Given the description of an element on the screen output the (x, y) to click on. 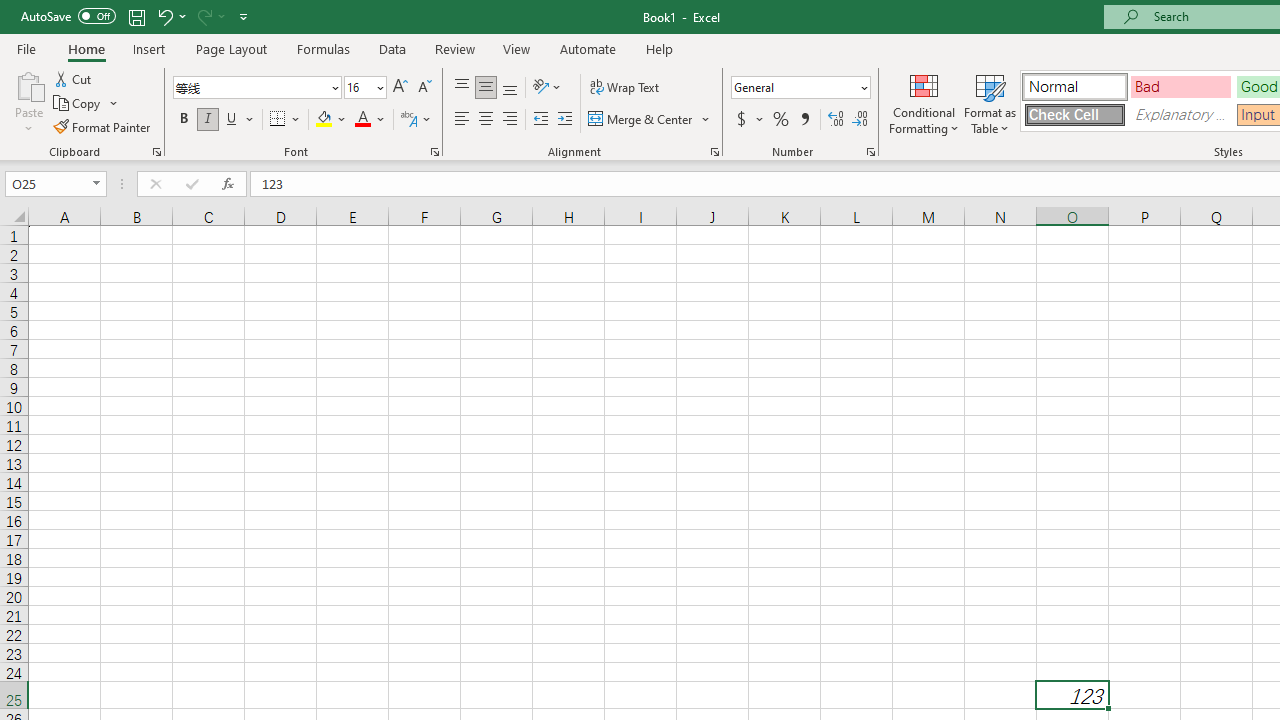
Show Phonetic Field (416, 119)
Font (250, 87)
Paste (28, 84)
Explanatory Text (1180, 114)
Percent Style (781, 119)
Underline (239, 119)
Format Cell Font (434, 151)
Bottom Border (278, 119)
Copy (85, 103)
Accounting Number Format (741, 119)
